Given the description of an element on the screen output the (x, y) to click on. 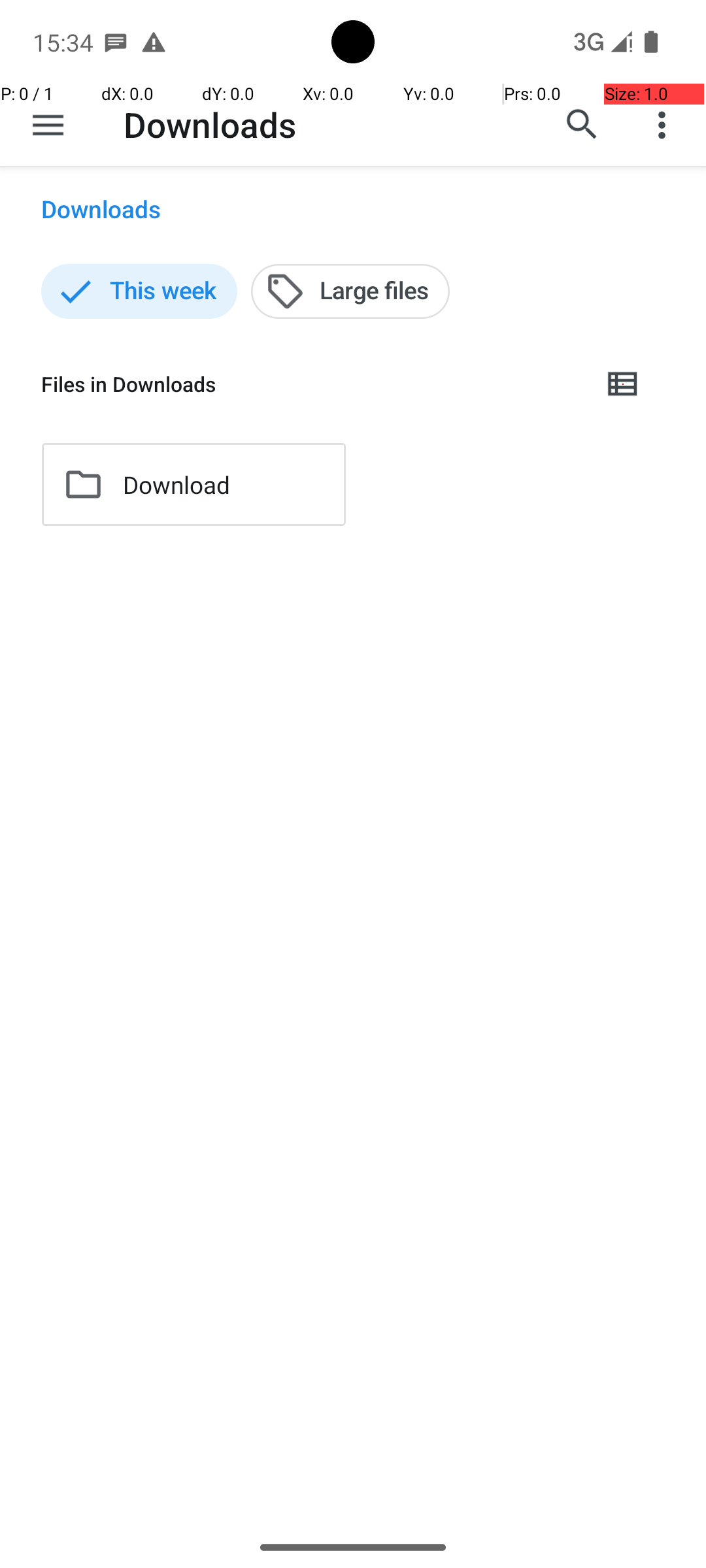
Download Element type: android.widget.TextView (176, 484)
